Given the description of an element on the screen output the (x, y) to click on. 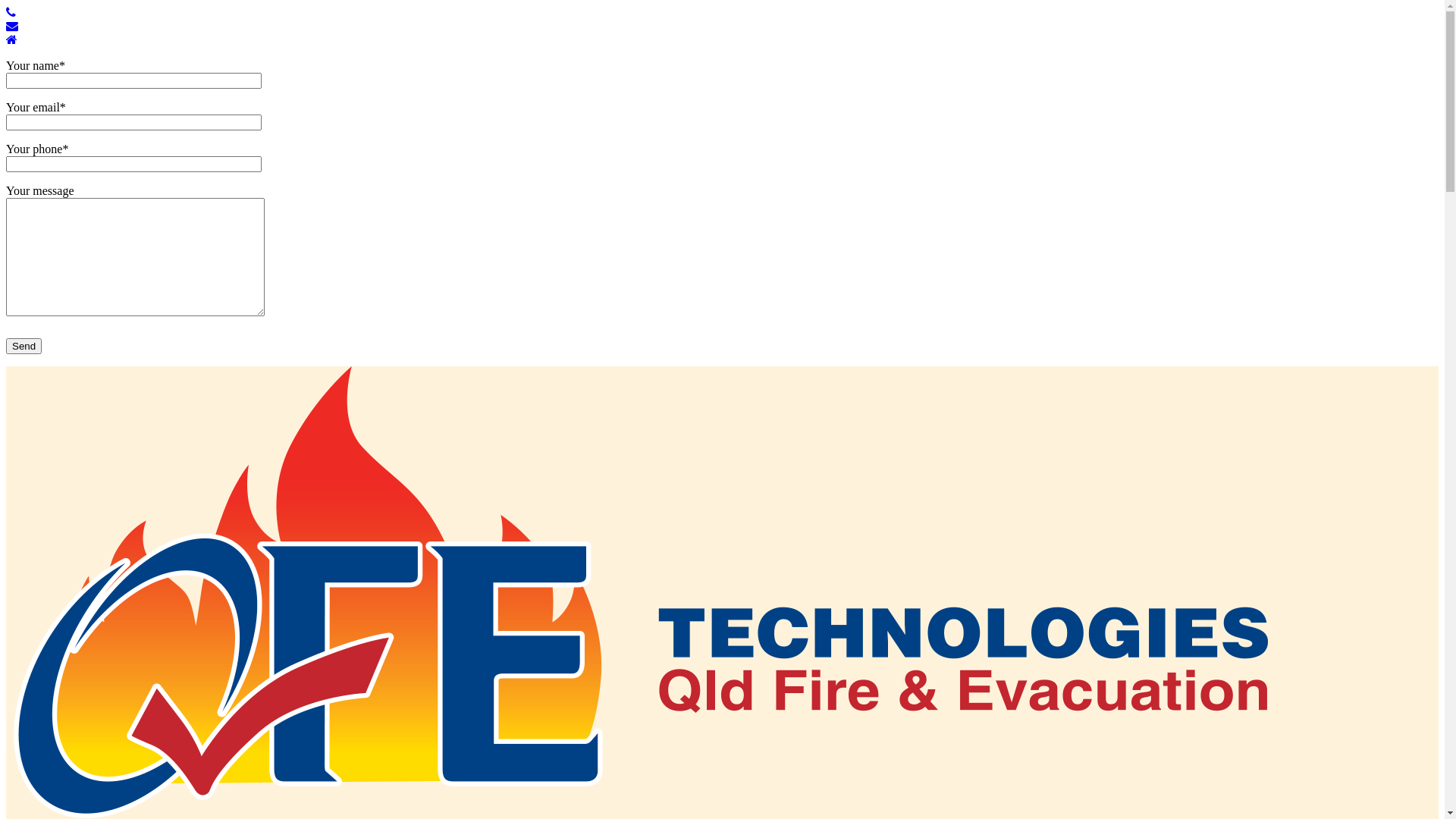
Send Element type: text (23, 346)
